Given the description of an element on the screen output the (x, y) to click on. 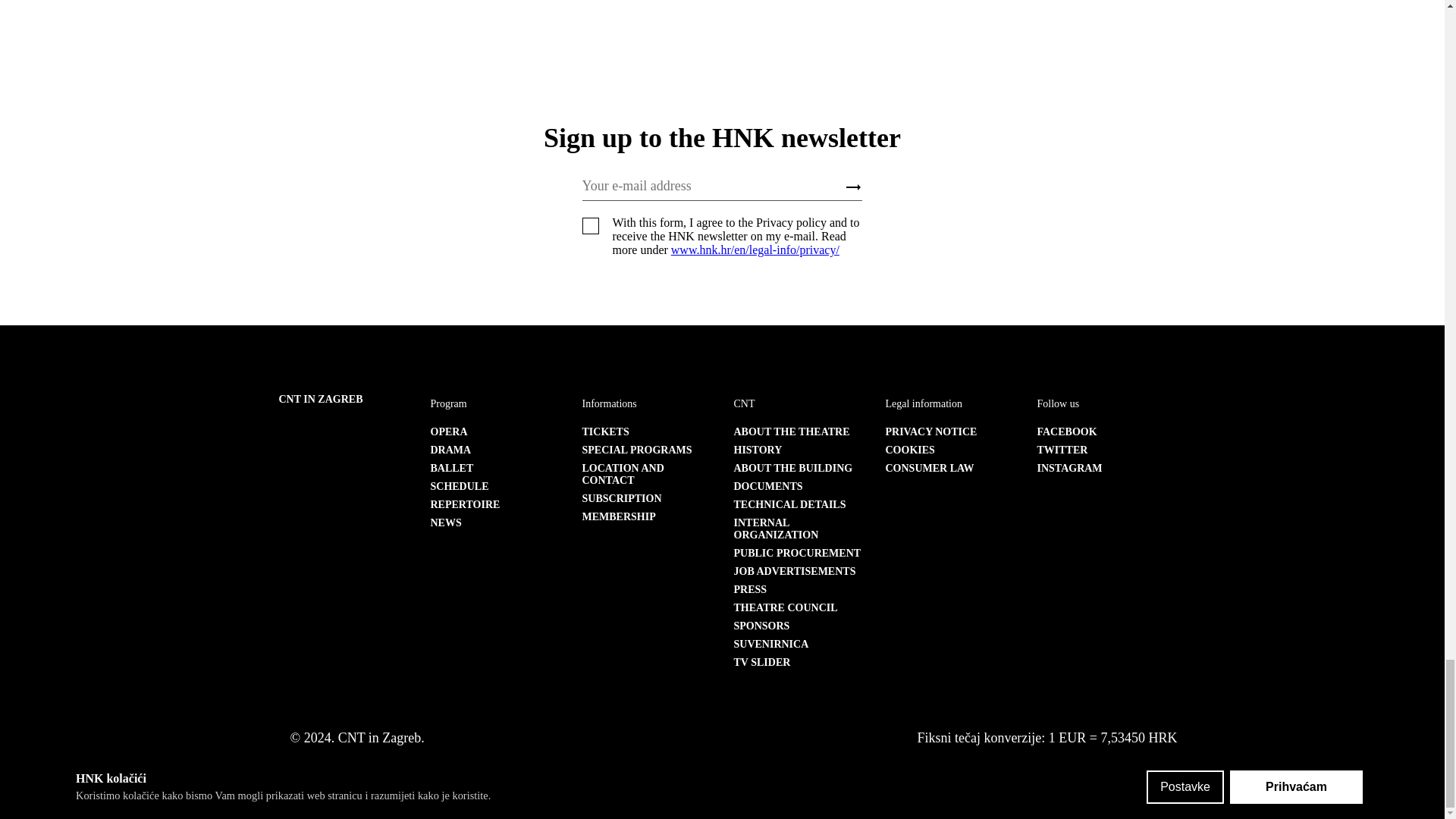
INTERNAL ORGANIZATION (775, 528)
TECHNICAL DETAILS (789, 504)
TICKETS (605, 431)
ABOUT THE BUILDING (793, 468)
LOCATION AND CONTACT (622, 474)
CNT (744, 403)
BALLET (452, 468)
SPECIAL PROGRAMS (637, 449)
NEWS (445, 522)
CNT IN ZAGREB (320, 398)
DOCUMENTS (768, 486)
MEMBERSHIP (619, 516)
ABOUT THE THEATRE (791, 431)
HISTORY (758, 449)
DRAMA (450, 449)
